Given the description of an element on the screen output the (x, y) to click on. 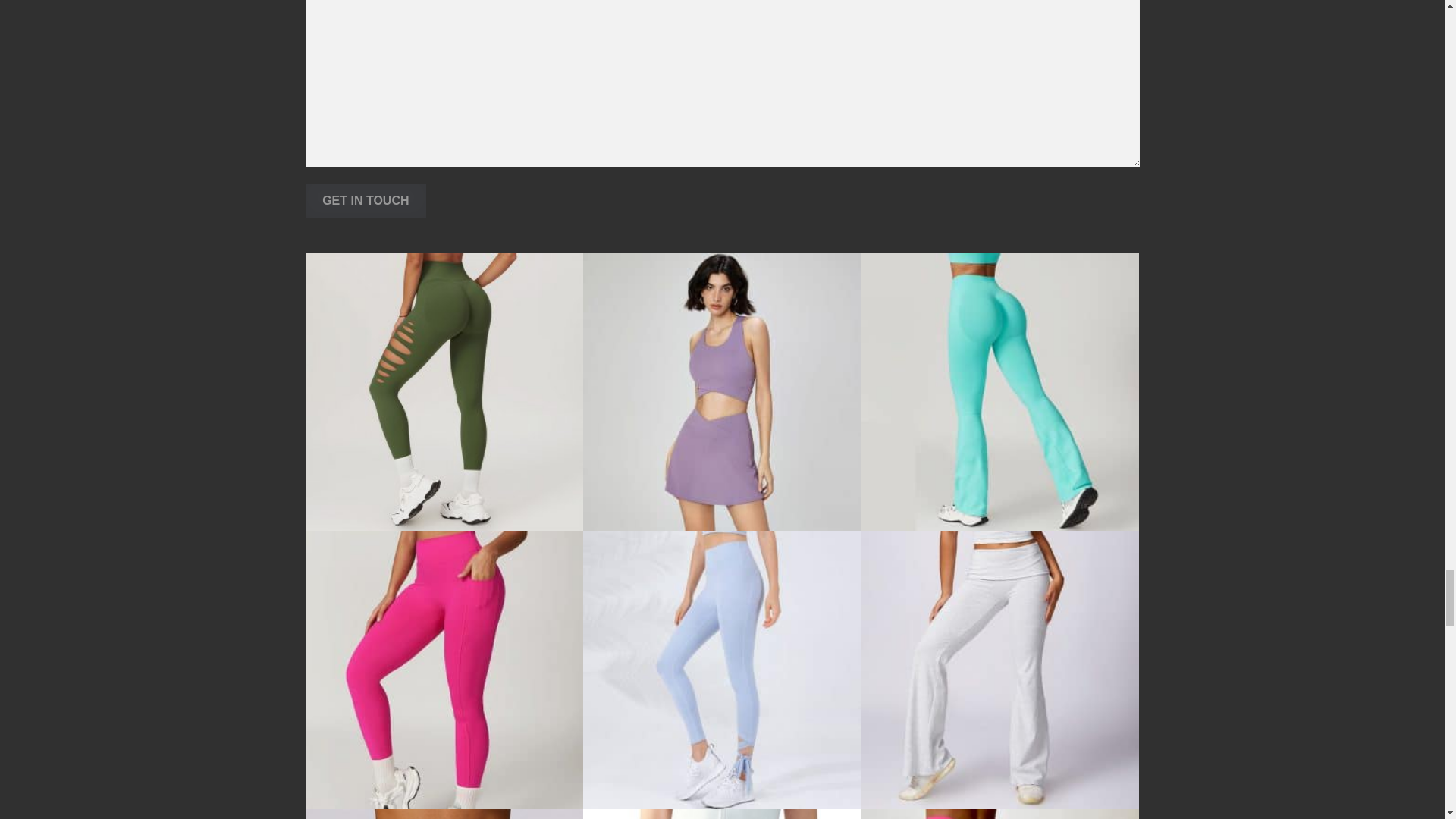
GET IN TOUCH (365, 200)
GET IN TOUCH (365, 200)
